Given the description of an element on the screen output the (x, y) to click on. 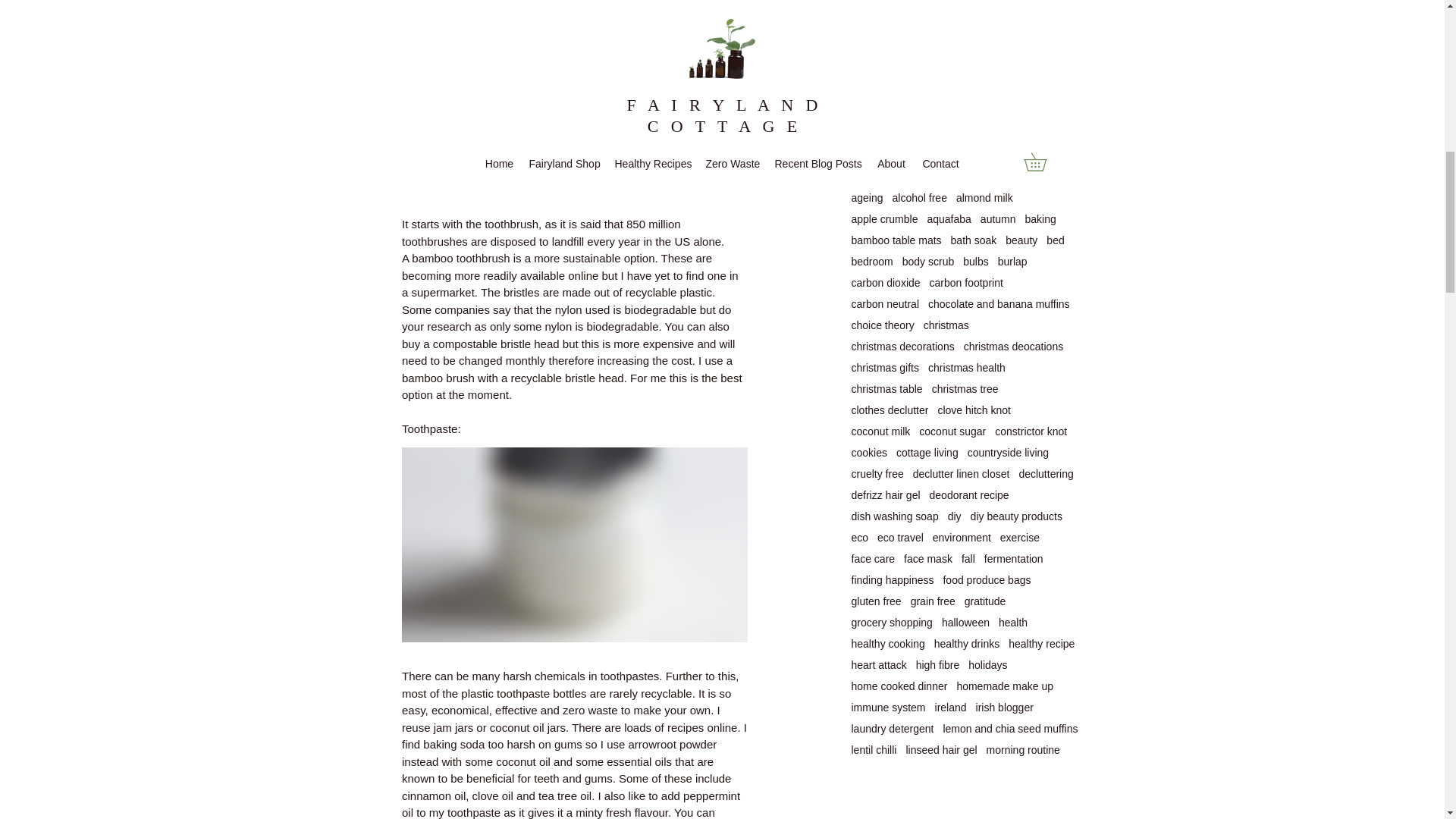
November 2017 (964, 100)
almond milk (984, 197)
alcohol free (919, 197)
May 2018 (964, 3)
December 2017 (964, 83)
February 2018 (964, 49)
January 2018 (964, 66)
apple crumble (883, 218)
October 2017 (964, 117)
September 2017 (964, 134)
March 2018 (964, 32)
ageing (866, 197)
April 2018 (964, 15)
